Given the description of an element on the screen output the (x, y) to click on. 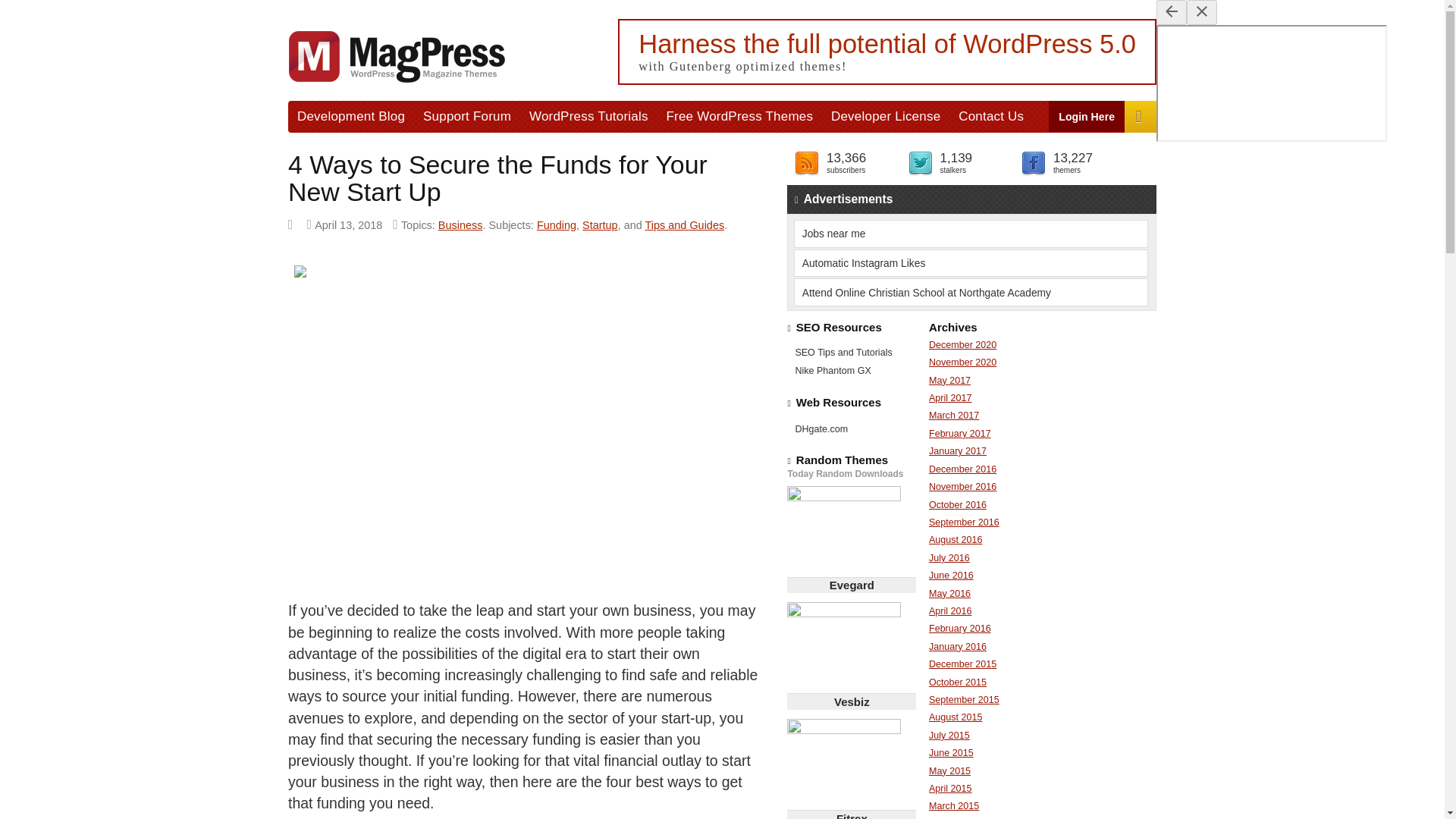
Developer License (885, 115)
WordPress Tutorials (588, 115)
Development Blog (350, 115)
Free Responsive WordPress Themes (740, 115)
Login Here (1086, 115)
Contact Us (990, 115)
Tips and Guides (685, 224)
Funding (556, 224)
Startup (599, 224)
Business (460, 224)
login to your account here (1086, 115)
Support Forum (466, 115)
Contact Us (990, 115)
Purchase our developer license to remove theme credits (885, 115)
are you ready to checkout? (1140, 116)
